Given the description of an element on the screen output the (x, y) to click on. 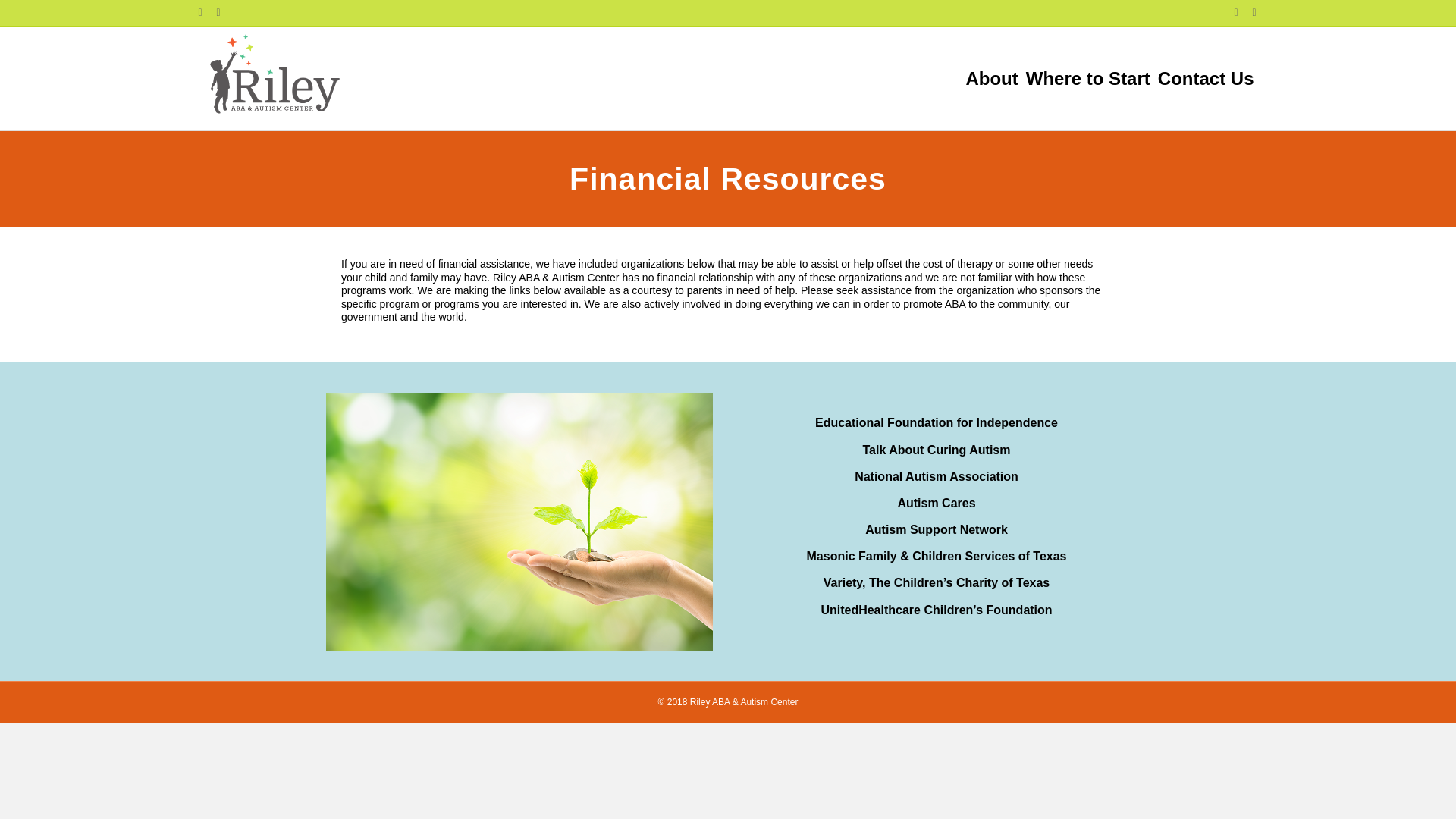
Financial (519, 521)
Contact Us (1205, 78)
Autism Cares (935, 502)
Educational Foundation for Independence (936, 422)
Autism Support Network (935, 529)
Facebook (1228, 11)
About (991, 78)
Instagram (225, 11)
Talk About Curing Autism (936, 449)
Where to Start (1088, 78)
